Given the description of an element on the screen output the (x, y) to click on. 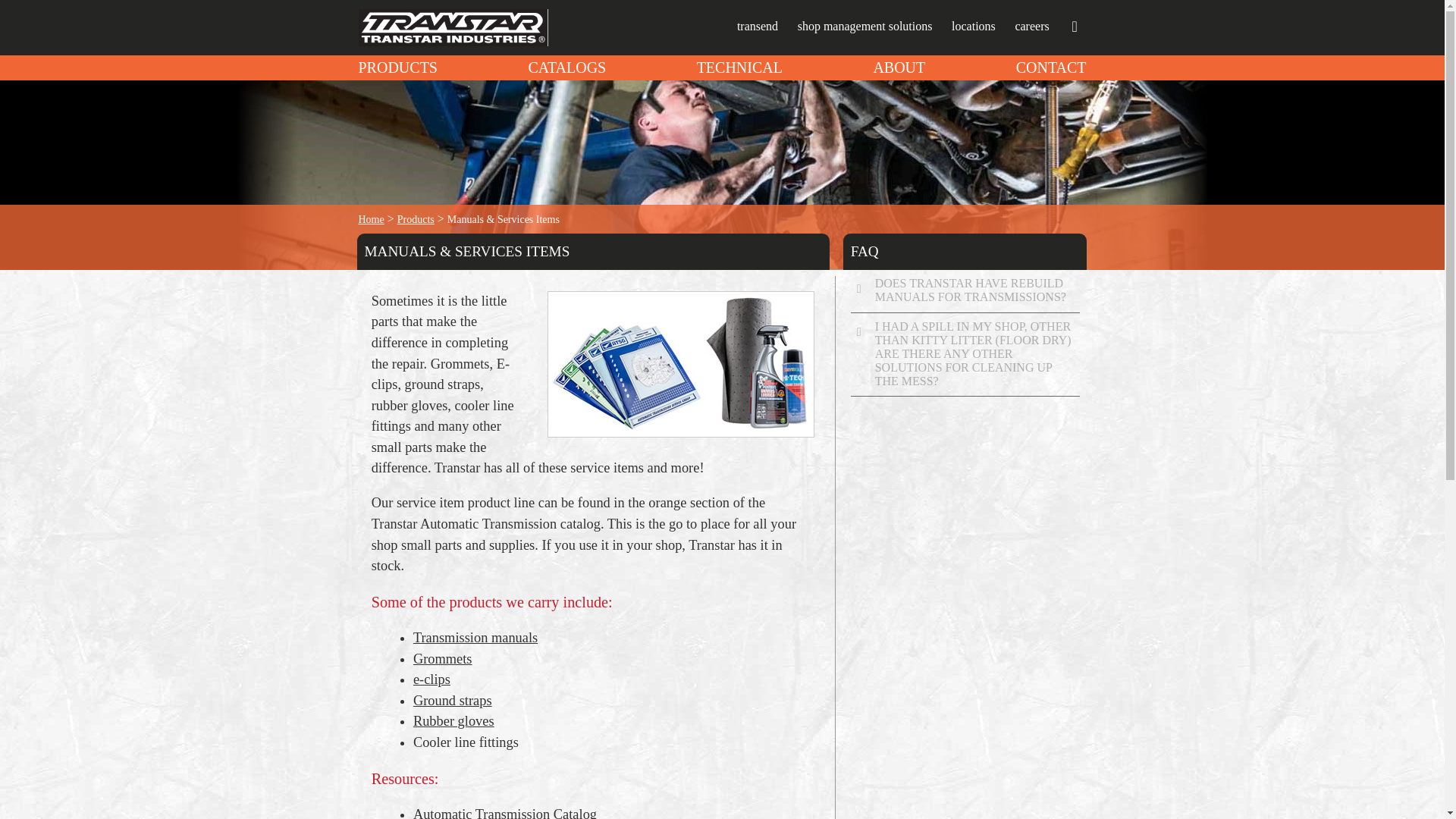
transend (756, 25)
locations (973, 25)
careers (1031, 25)
ABOUT (898, 65)
CONTACT (1051, 65)
CATALOGS (566, 65)
TECHNICAL (740, 65)
shop management solutions (865, 25)
PRODUCTS (397, 65)
